Given the description of an element on the screen output the (x, y) to click on. 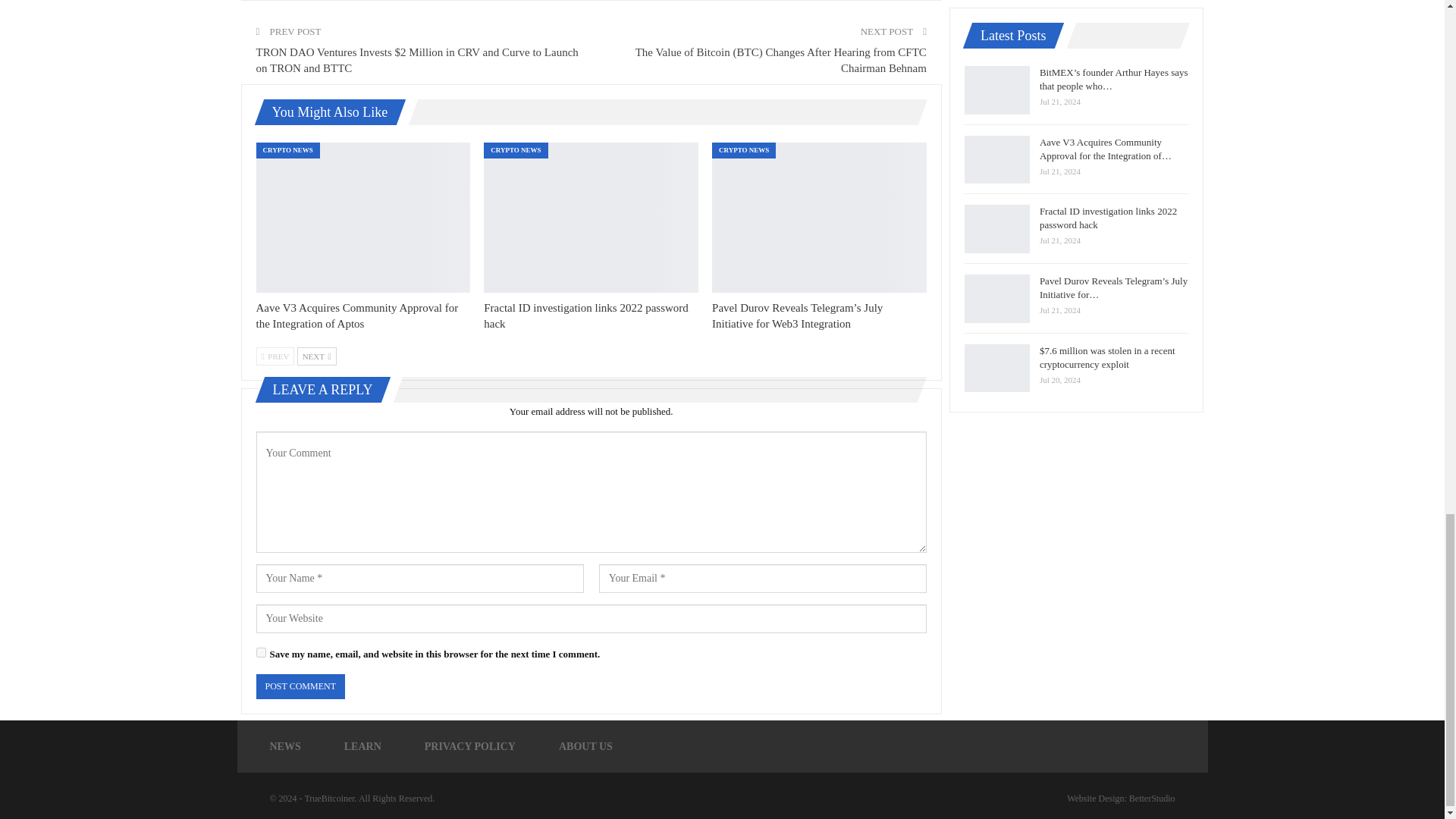
Fractal ID investigation links 2022 password hack (590, 217)
yes (261, 652)
Post Comment (300, 686)
Fractal ID investigation links 2022 password hack (585, 316)
